Given the description of an element on the screen output the (x, y) to click on. 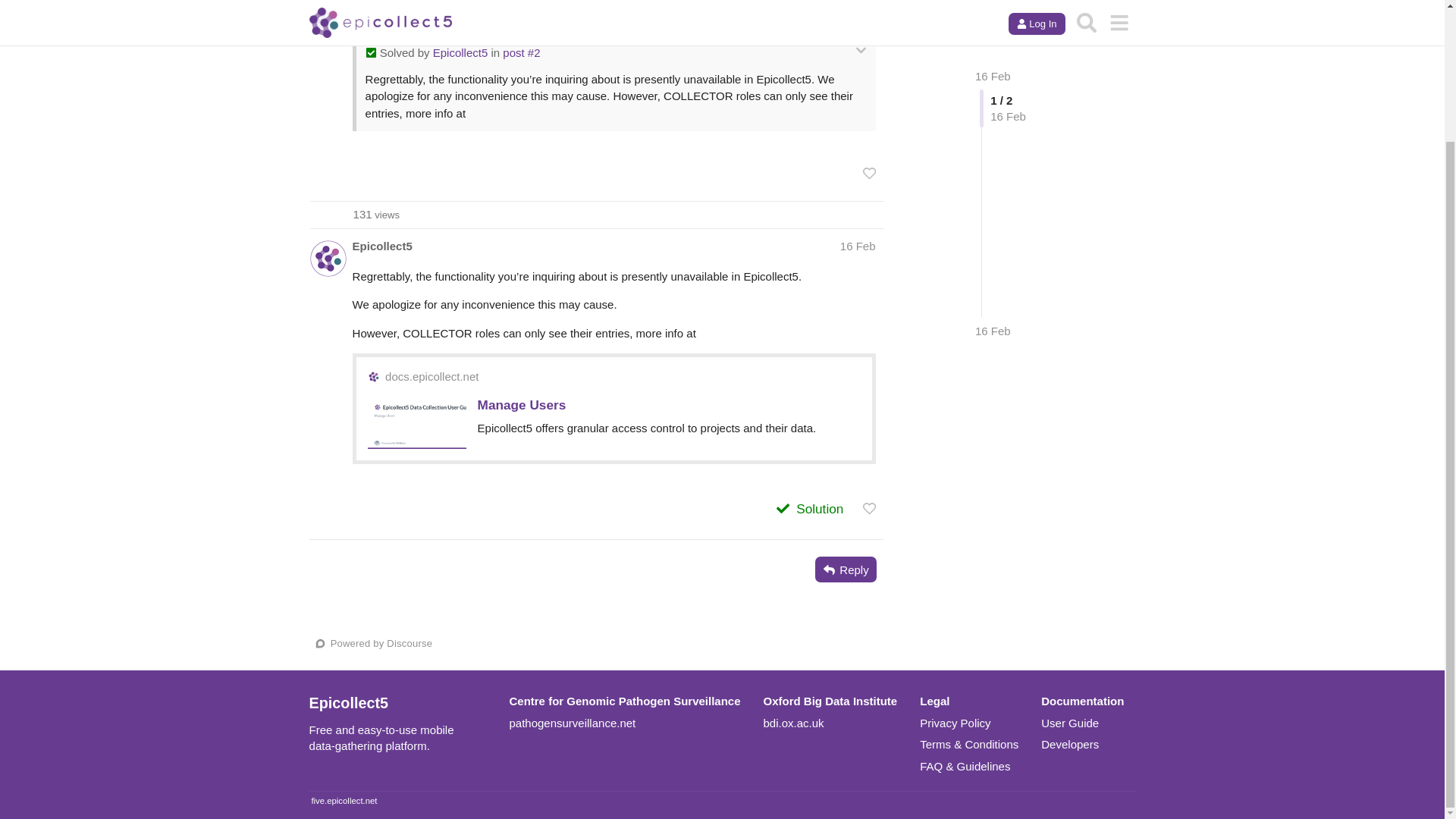
like this post (869, 508)
bdi.ox.ac.uk (793, 722)
16 Feb (858, 245)
blank (955, 722)
Privacy Policy (955, 722)
Manage Users (521, 404)
User Guide (1070, 722)
Reply (846, 569)
Jump to the last post (992, 198)
Powered by Discourse (374, 643)
